Given the description of an element on the screen output the (x, y) to click on. 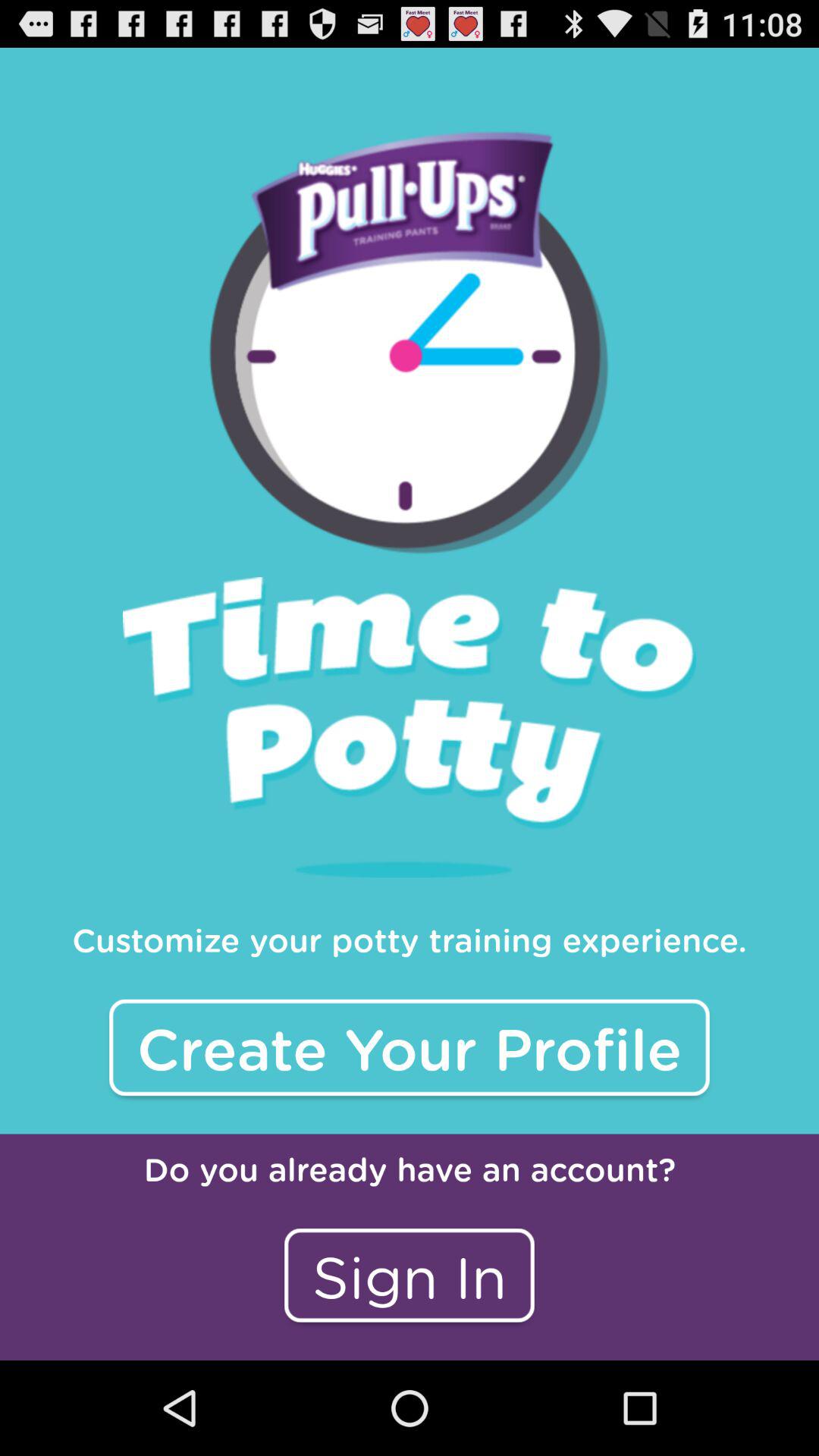
turn on create your profile item (409, 1047)
